Given the description of an element on the screen output the (x, y) to click on. 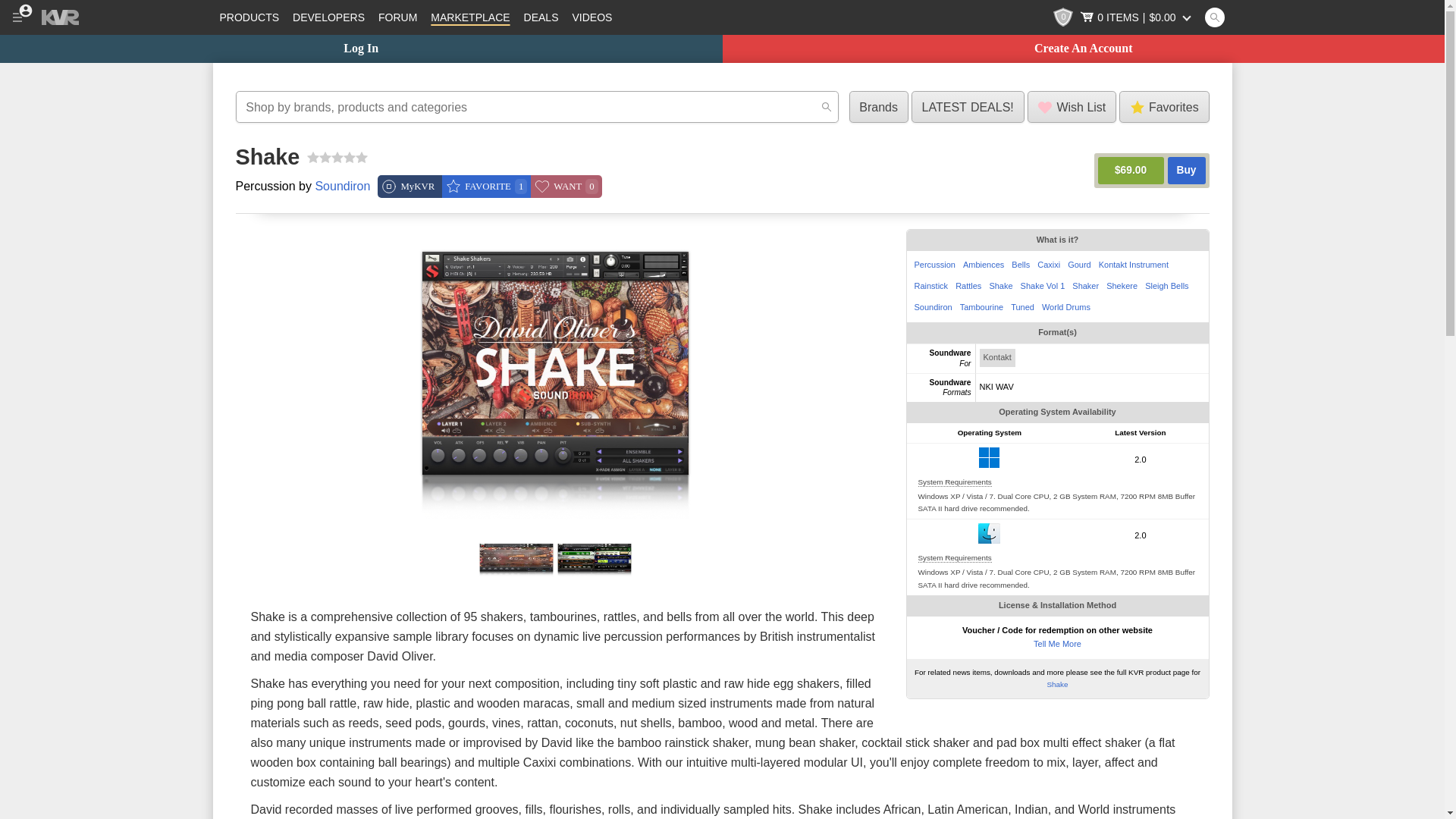
Shake (516, 576)
MyKVR Groups (409, 186)
Read reviews and rate and review! (337, 157)
Shake (555, 532)
Shake (593, 576)
I Want This (566, 186)
Favorite (486, 186)
Cart (1136, 17)
